Given the description of an element on the screen output the (x, y) to click on. 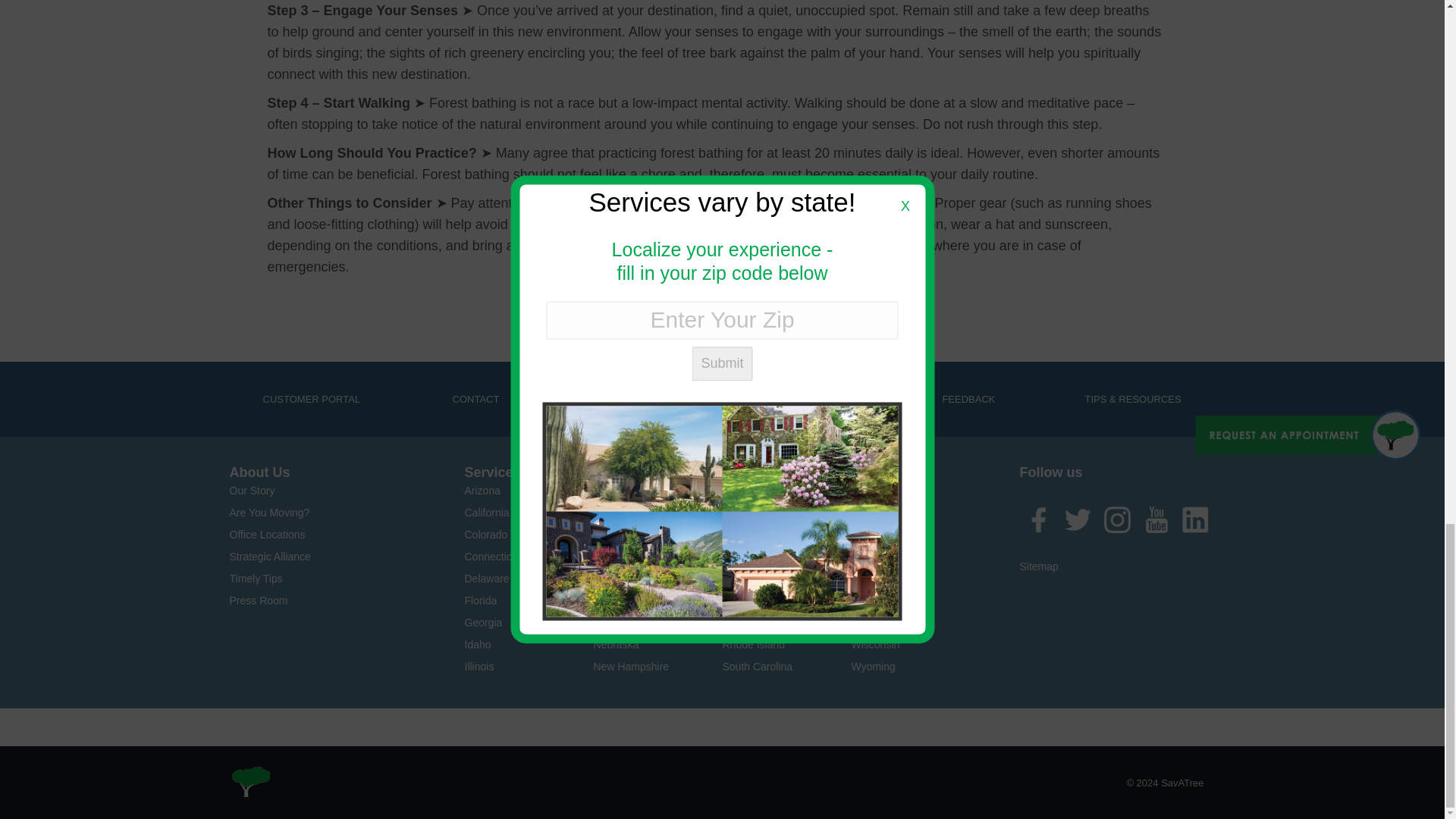
Minnesota (617, 600)
Colorado (485, 534)
Maryland (614, 534)
Massachusetts (627, 556)
Delaware (486, 578)
Illinois (478, 666)
Georgia (483, 622)
Montana (612, 622)
Connecticut (491, 556)
Kentucky (614, 512)
